Given the description of an element on the screen output the (x, y) to click on. 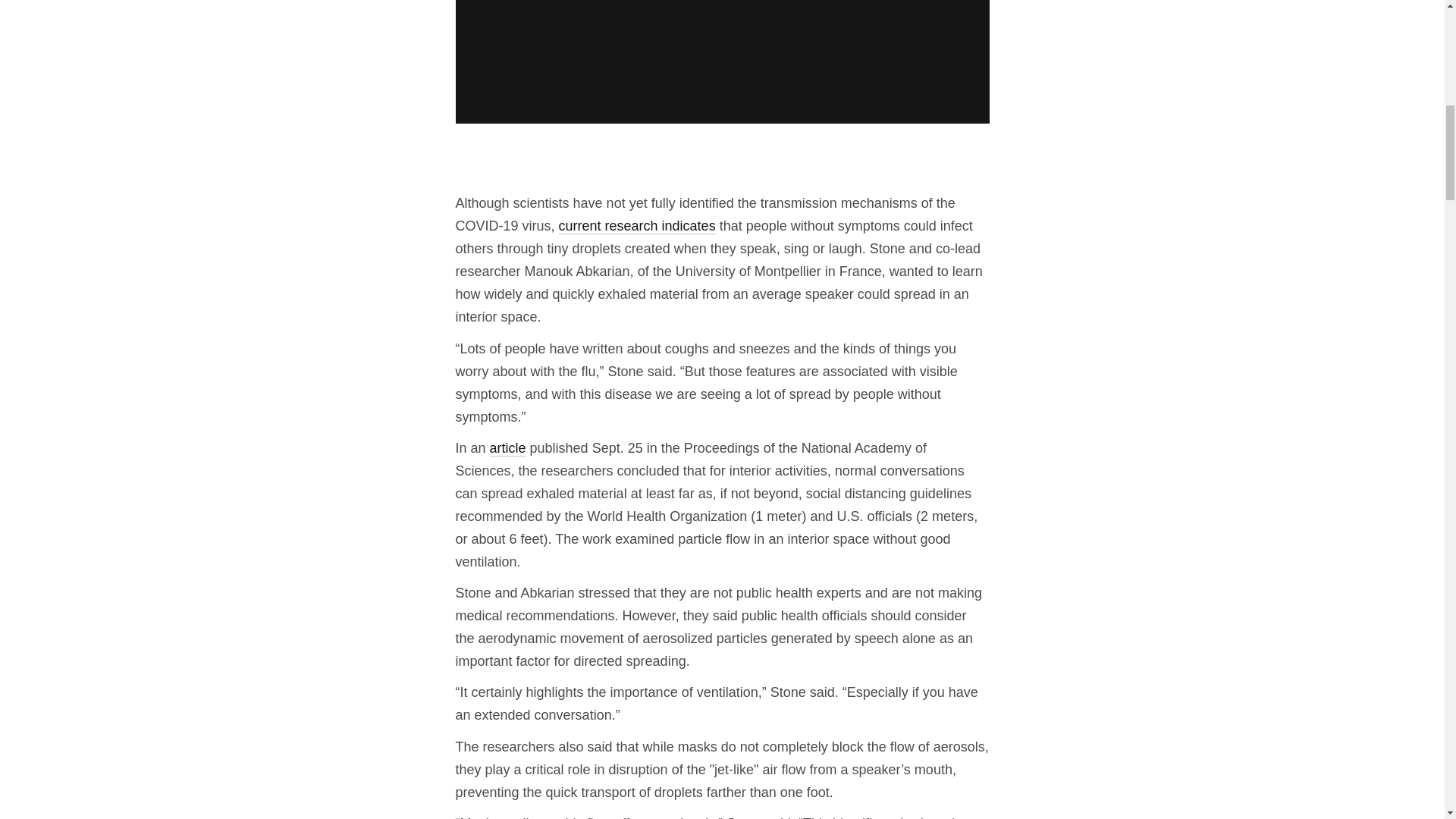
COVID droplet research (721, 61)
article (507, 448)
current research indicates (637, 226)
